Given the description of an element on the screen output the (x, y) to click on. 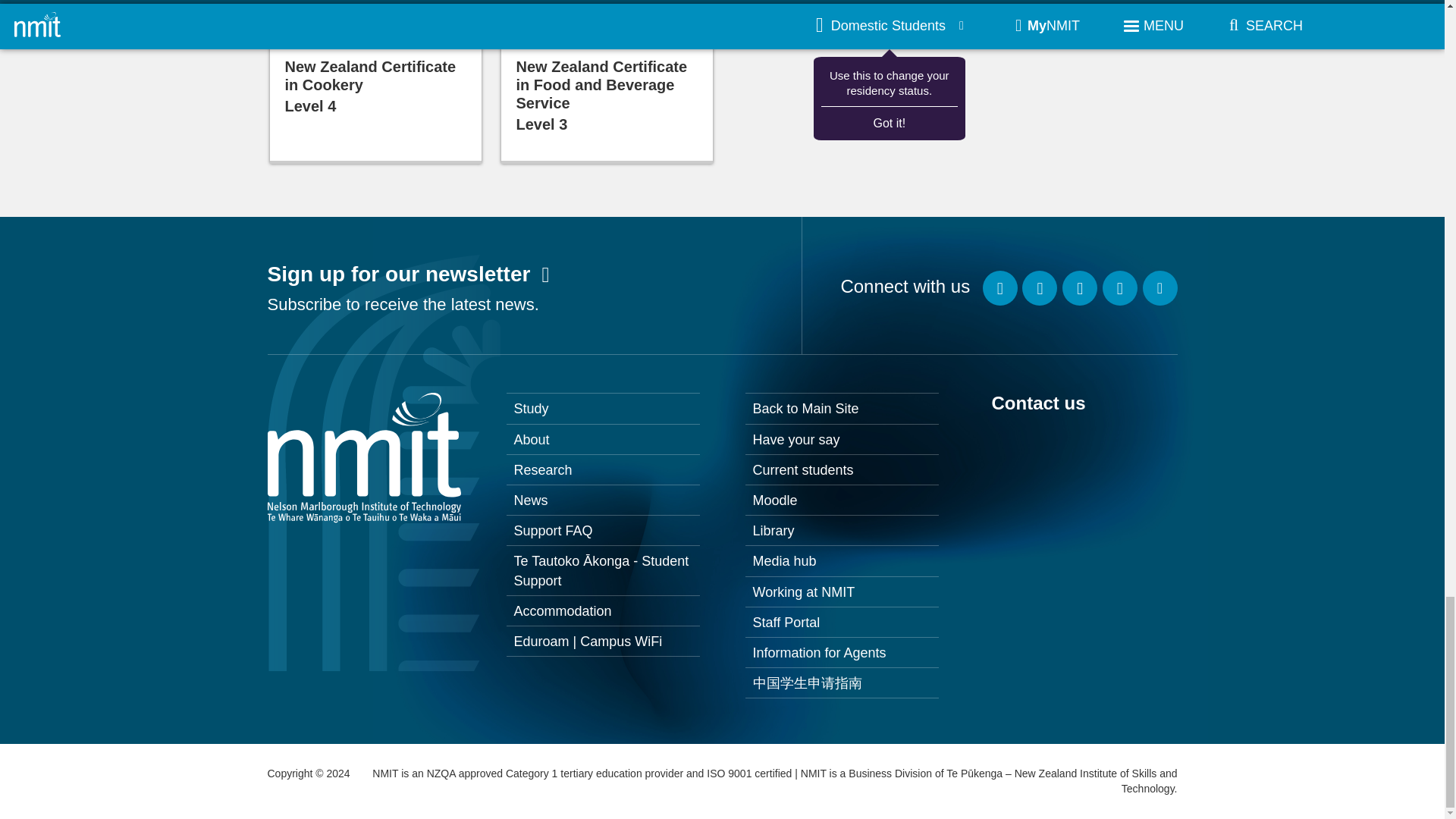
Join us on YouTube (1119, 288)
LinkedIn Profile (1079, 288)
Follow us on TikTok (1158, 288)
Join us on Facebook (999, 288)
Follow us on Instagram (1039, 288)
